Given the description of an element on the screen output the (x, y) to click on. 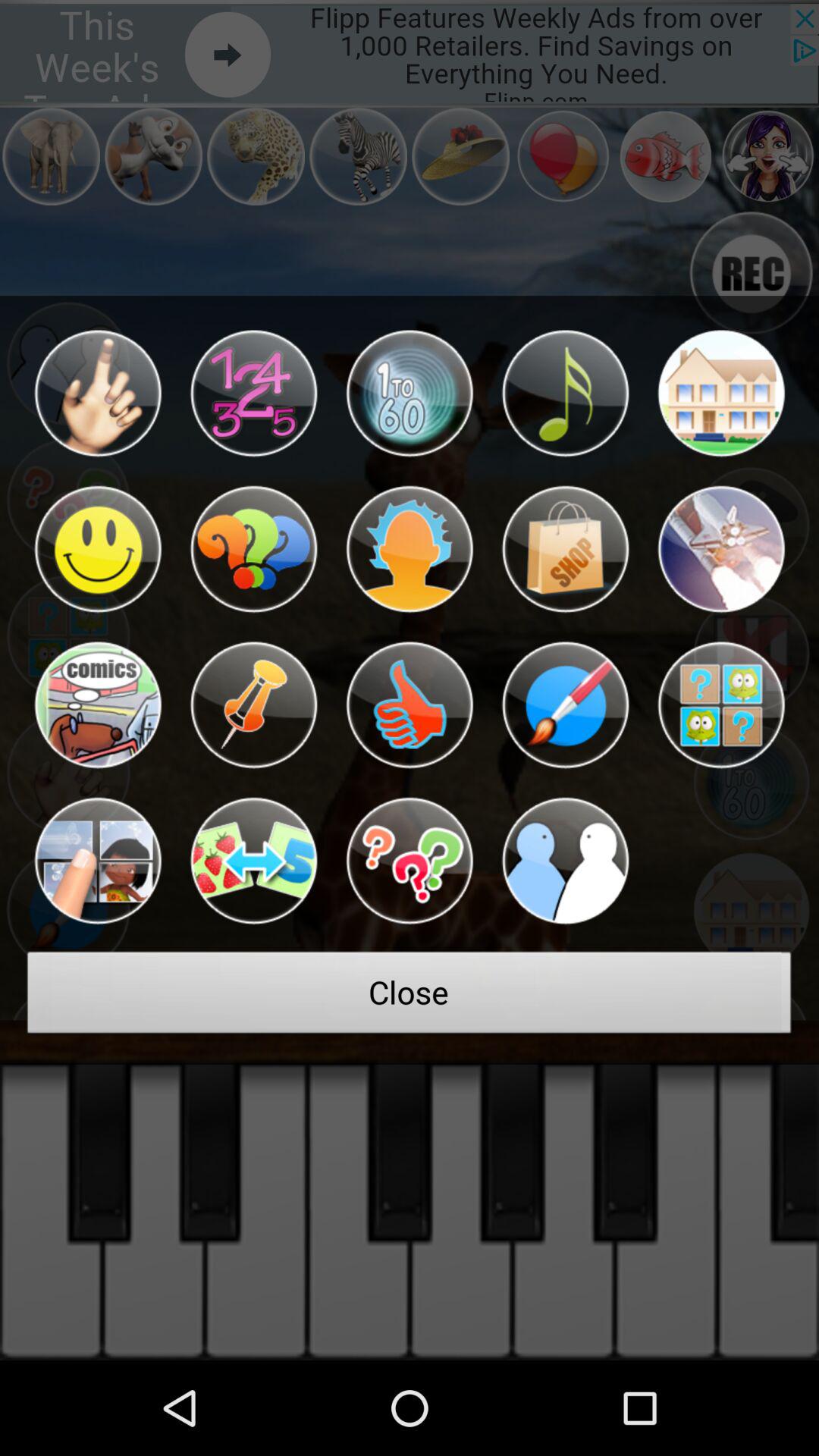
tap the item above close (565, 861)
